Given the description of an element on the screen output the (x, y) to click on. 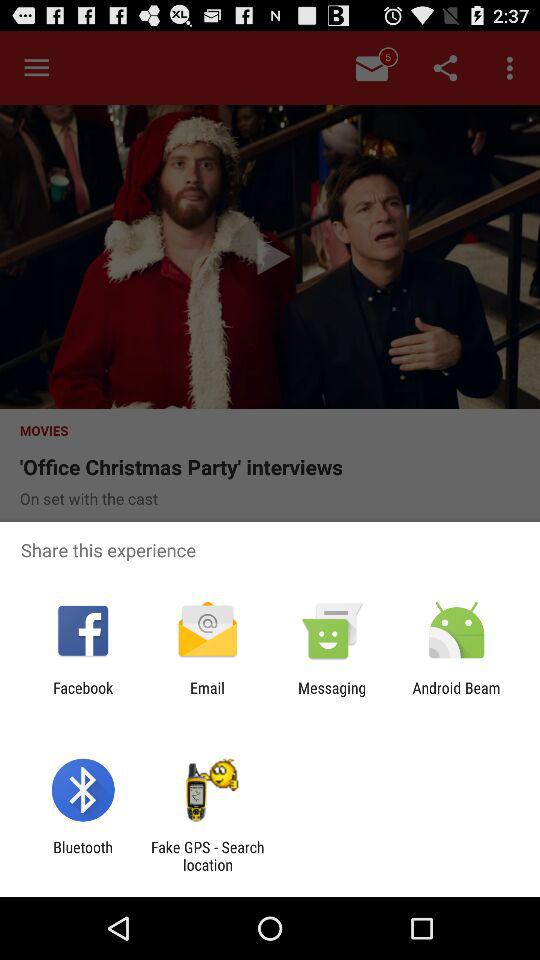
launch the icon to the right of bluetooth item (207, 856)
